Given the description of an element on the screen output the (x, y) to click on. 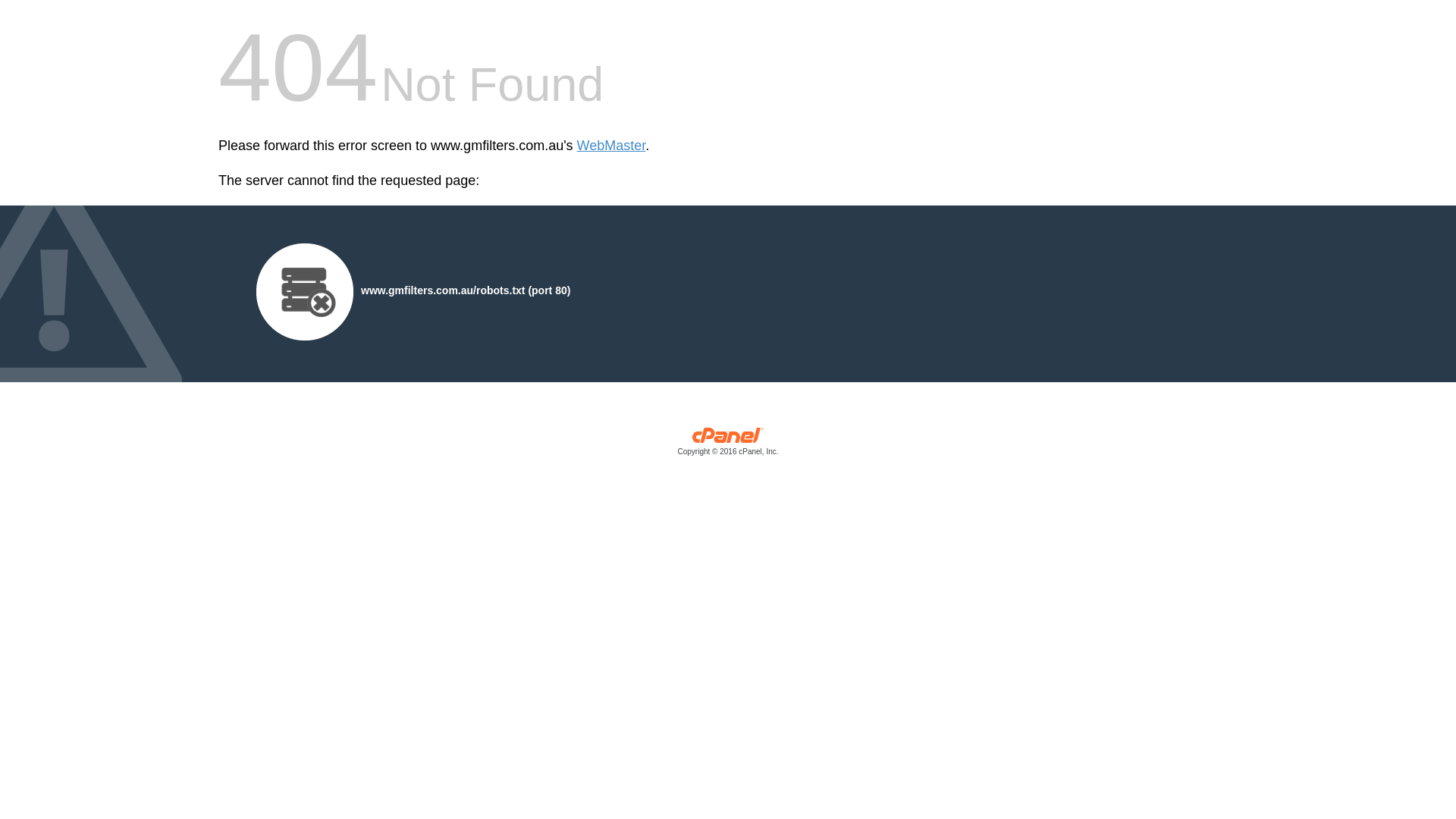
WebMaster Element type: text (611, 145)
